Given the description of an element on the screen output the (x, y) to click on. 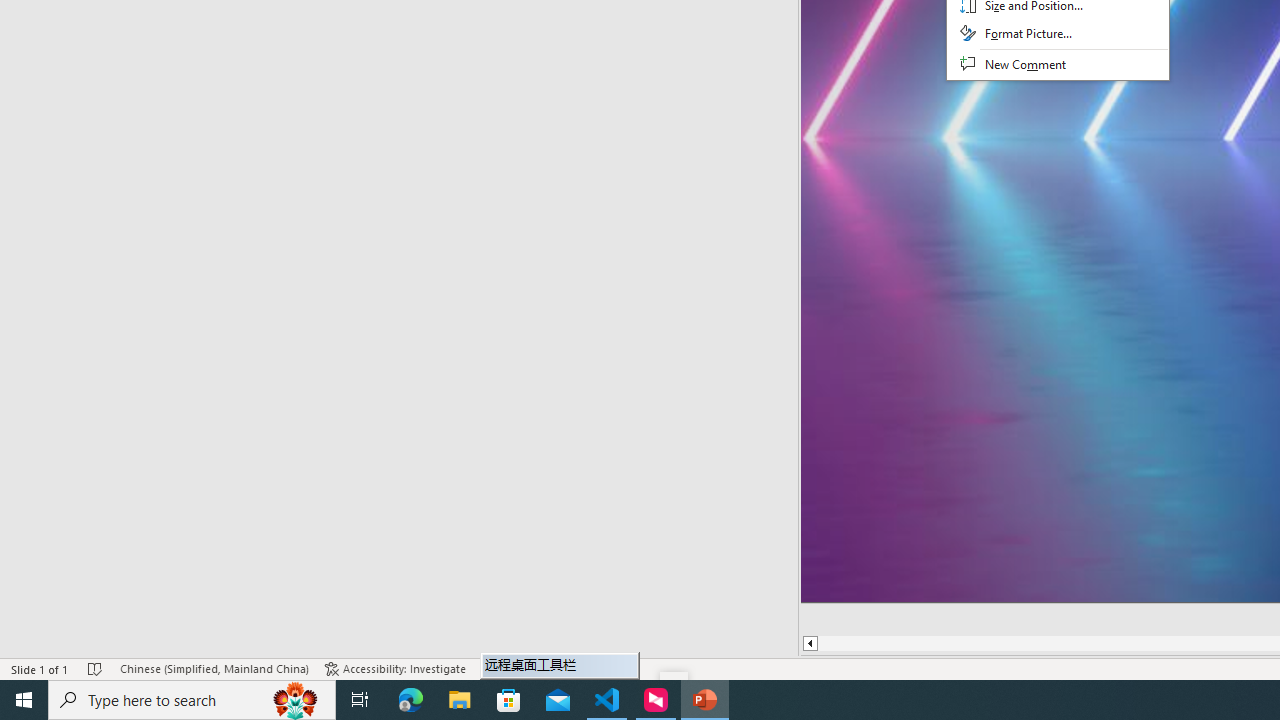
New Comment (1057, 65)
Format Picture... (1057, 34)
